Given the description of an element on the screen output the (x, y) to click on. 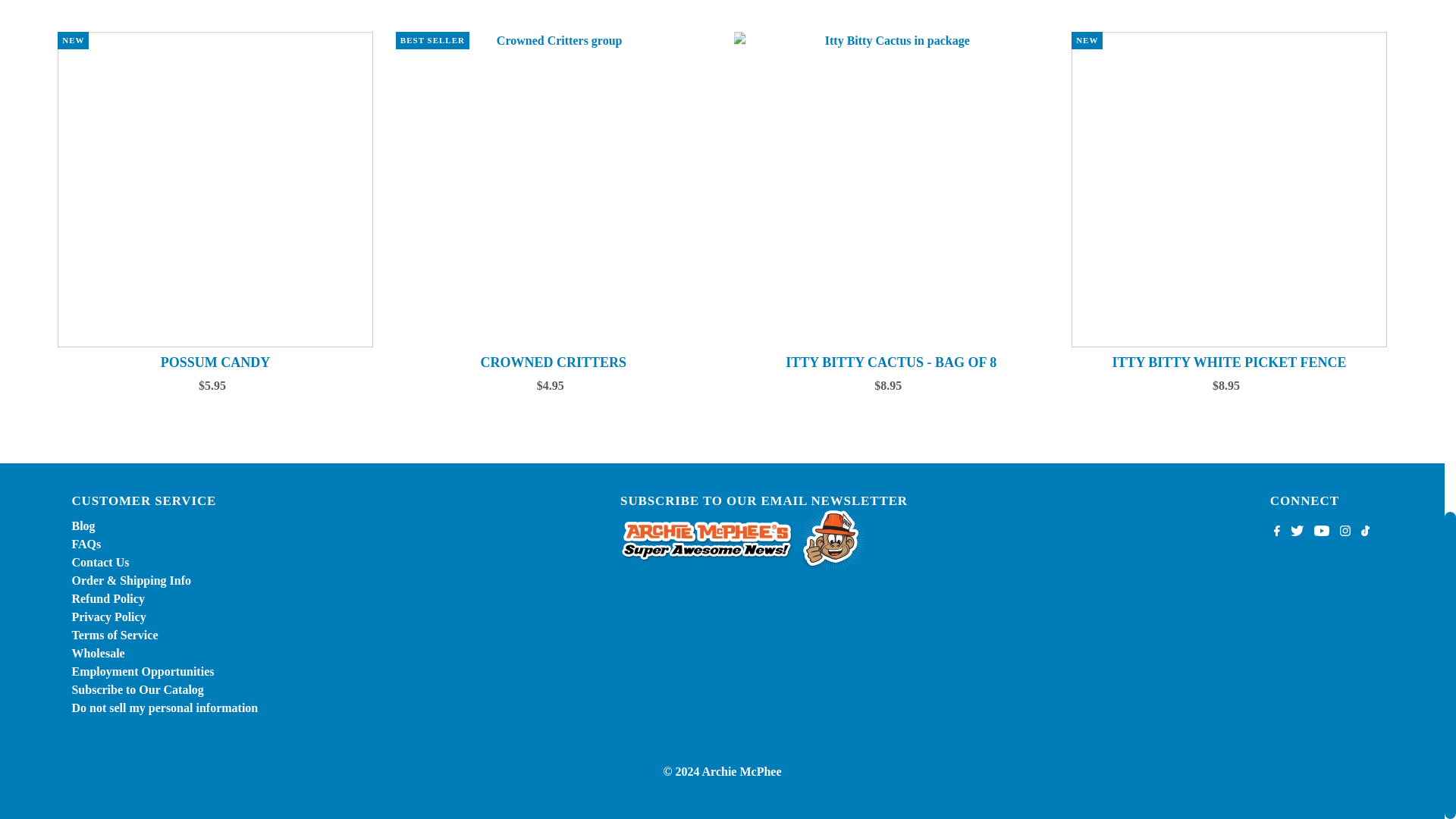
Crowned Critters (553, 189)
Itty Bitty Cactus - Bag of 8 (891, 189)
Possum Candy (215, 189)
Itty Bitty White Picket Fence (1229, 189)
